Given the description of an element on the screen output the (x, y) to click on. 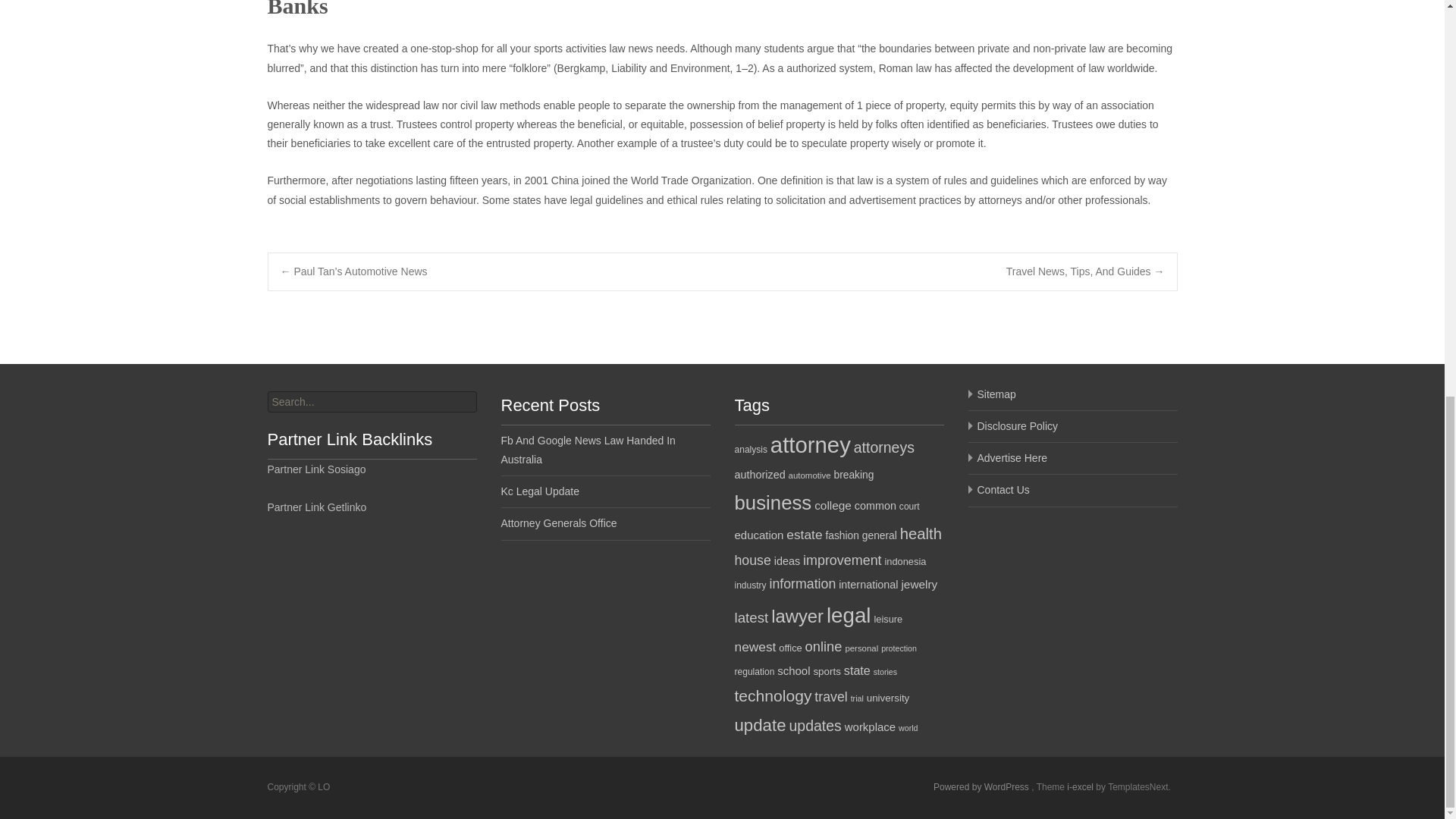
court (909, 506)
analysis (750, 449)
business (771, 502)
automotive (810, 474)
education (758, 534)
attorneys (883, 446)
college (832, 504)
Multipurpose Business WooCommerce Theme (1081, 787)
estate (804, 534)
attorney (810, 444)
authorized (758, 474)
common (875, 505)
Search for: (371, 401)
Semantic Personal Publishing Platform (981, 787)
